Given the description of an element on the screen output the (x, y) to click on. 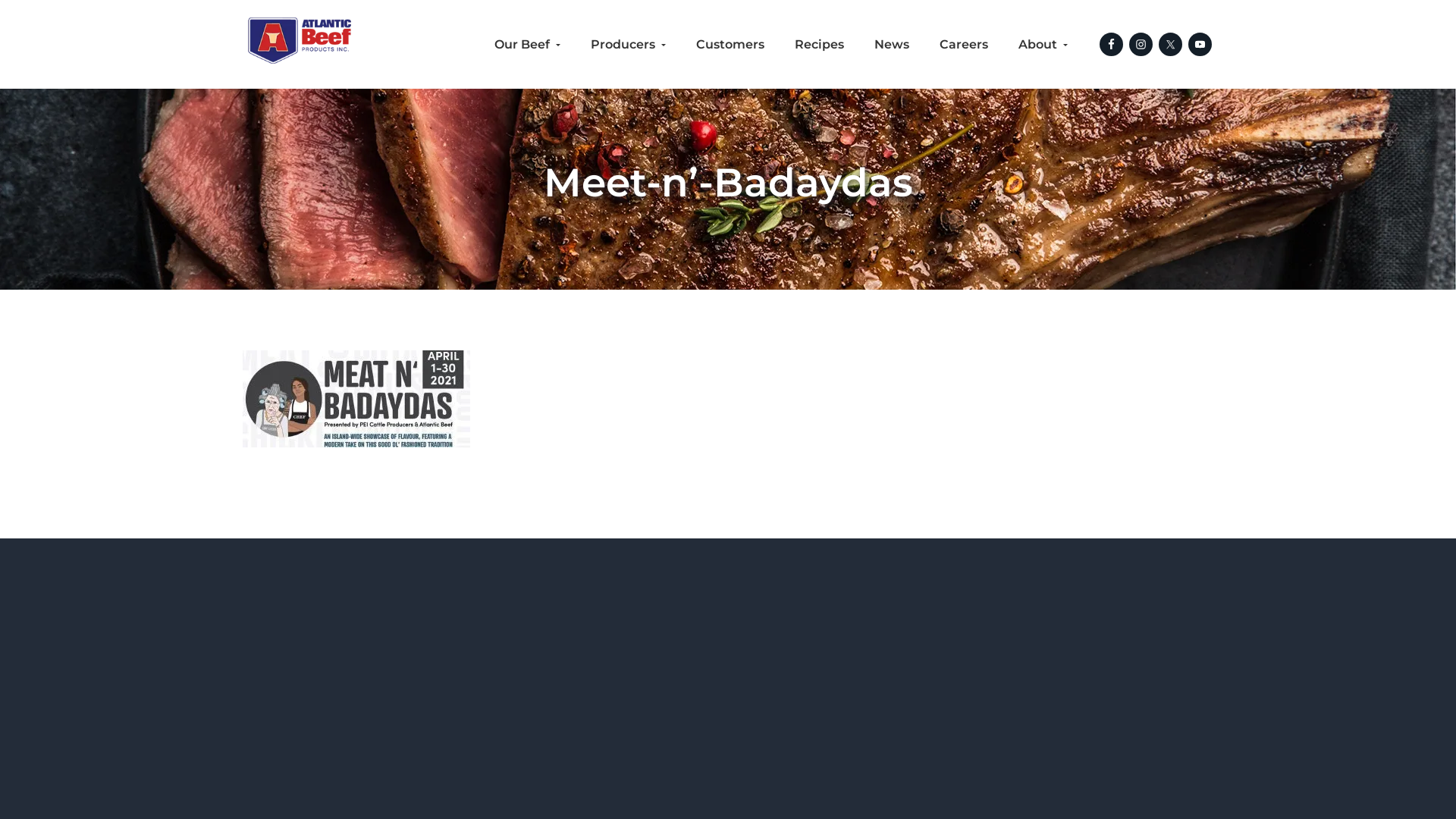
Our Beef Element type: text (527, 44)
Careers Element type: text (963, 44)
About Element type: text (1042, 44)
Producers Element type: text (627, 44)
Skip to primary navigation Element type: text (0, 0)
Customers Element type: text (729, 44)
News Element type: text (891, 44)
Recipes Element type: text (819, 44)
Atlantic Beef Products Element type: text (318, 94)
